Given the description of an element on the screen output the (x, y) to click on. 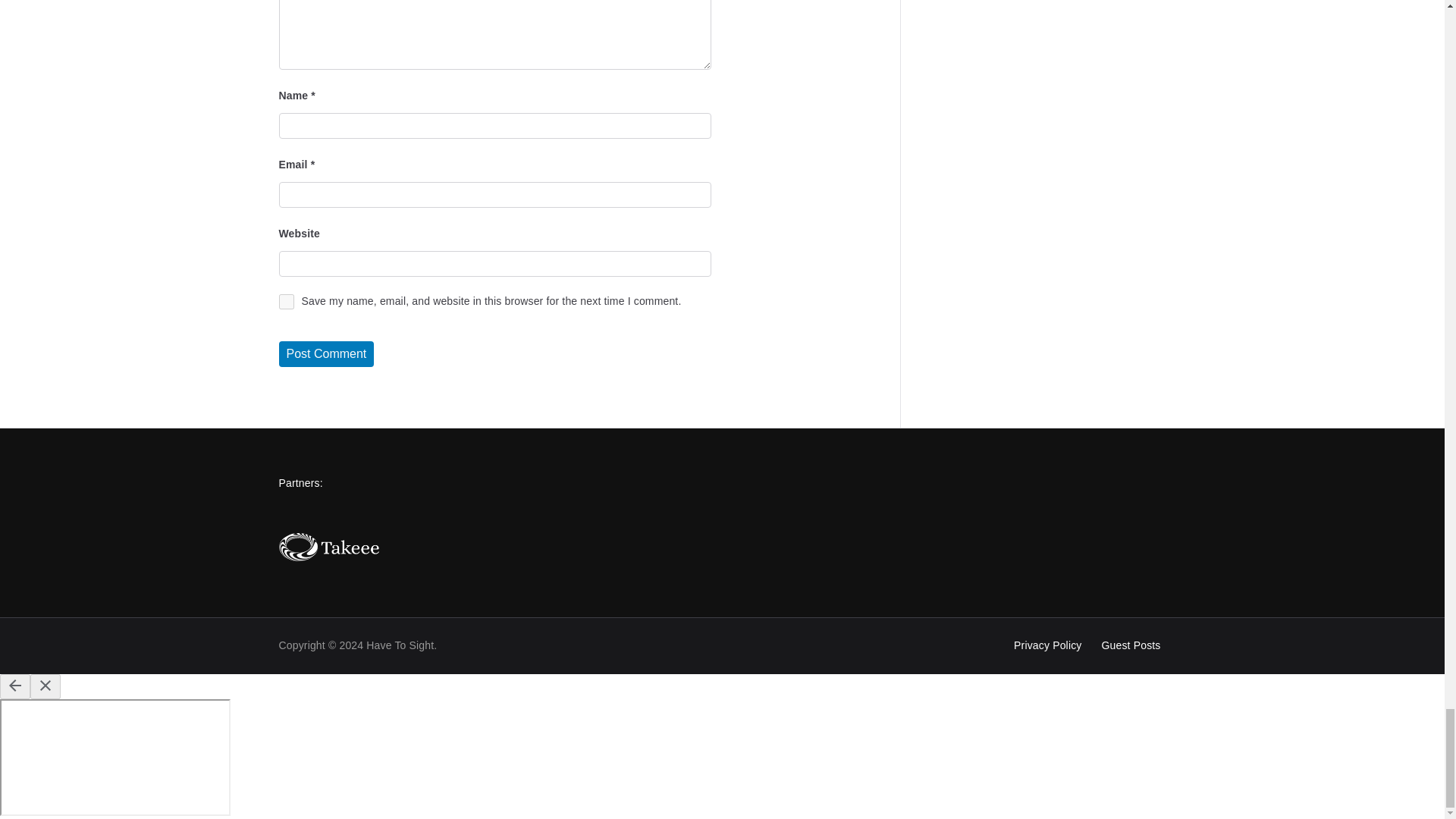
yes (286, 301)
Post Comment (326, 353)
